Given the description of an element on the screen output the (x, y) to click on. 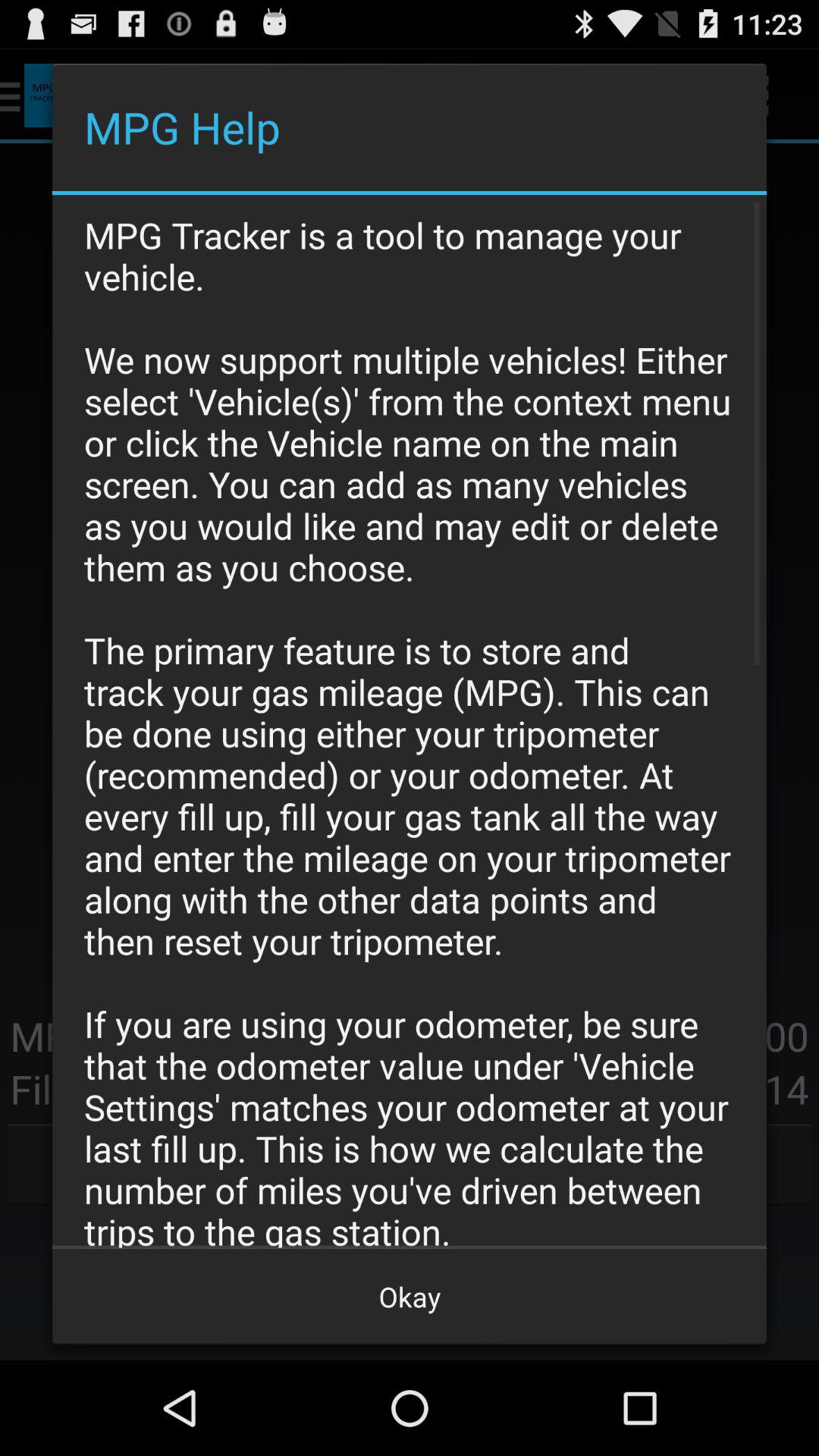
turn on app at the center (409, 721)
